Given the description of an element on the screen output the (x, y) to click on. 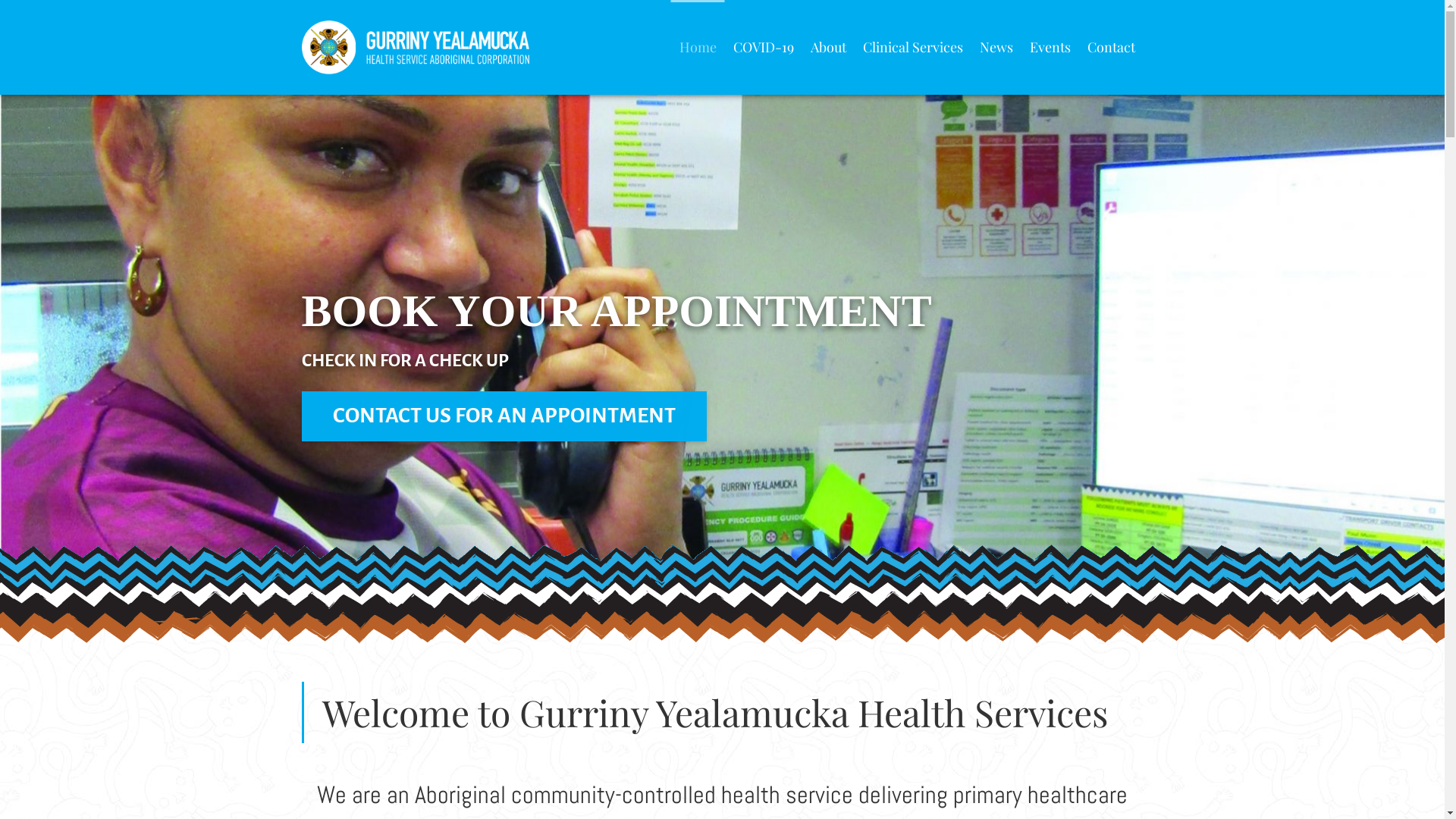
Contact Element type: text (1110, 47)
Events Element type: text (1049, 47)
COVID-19 Element type: text (763, 47)
CONTACT US FOR AN APPOINTMENT Element type: text (663, 416)
News Element type: text (995, 47)
Clinical Services Element type: text (911, 47)
About Element type: text (828, 47)
Home Element type: text (697, 47)
